Given the description of an element on the screen output the (x, y) to click on. 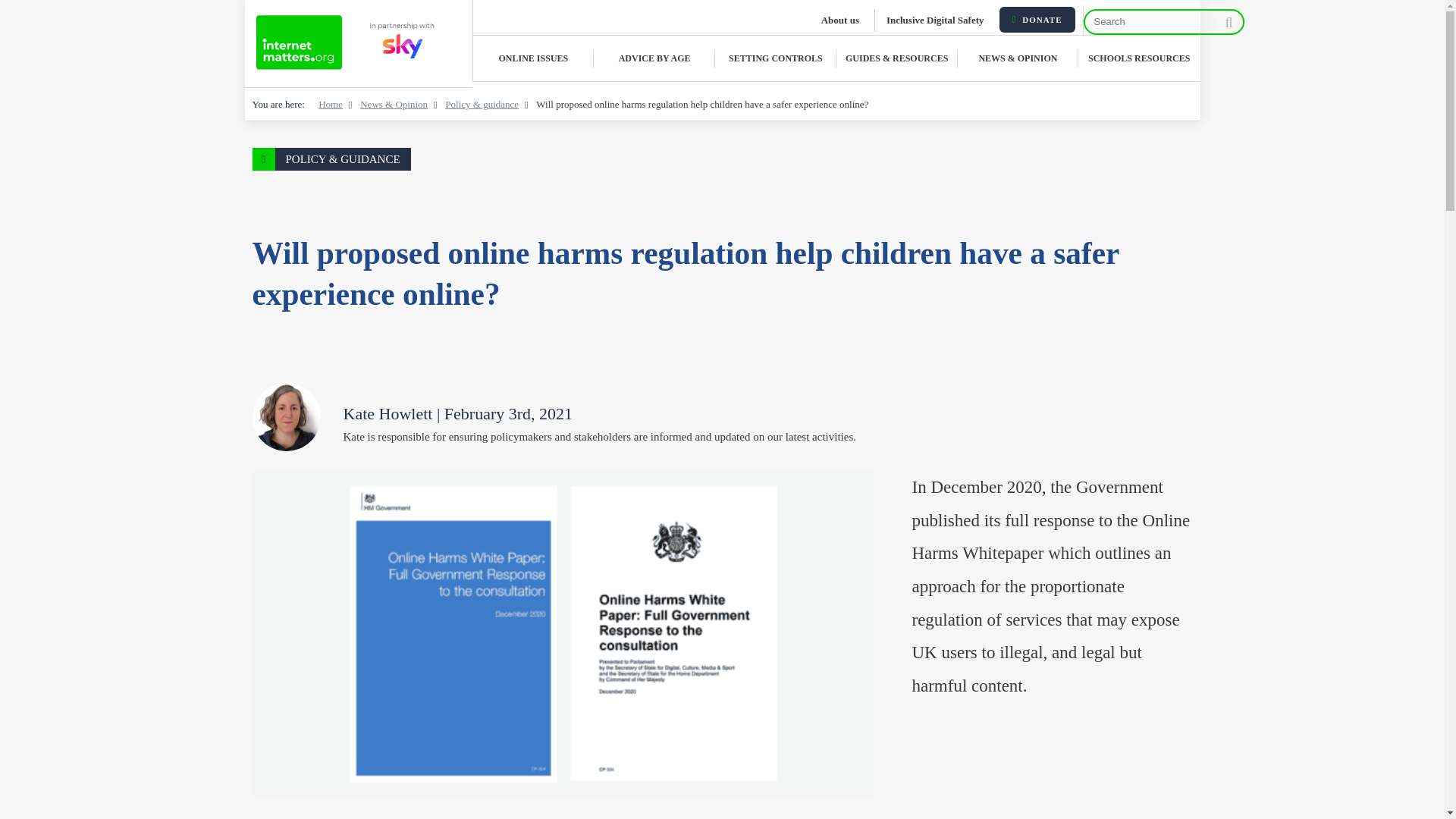
ONLINE ISSUES (533, 58)
DONATE (1036, 19)
About us (842, 20)
Inclusive Digital Safety (936, 20)
